Given the description of an element on the screen output the (x, y) to click on. 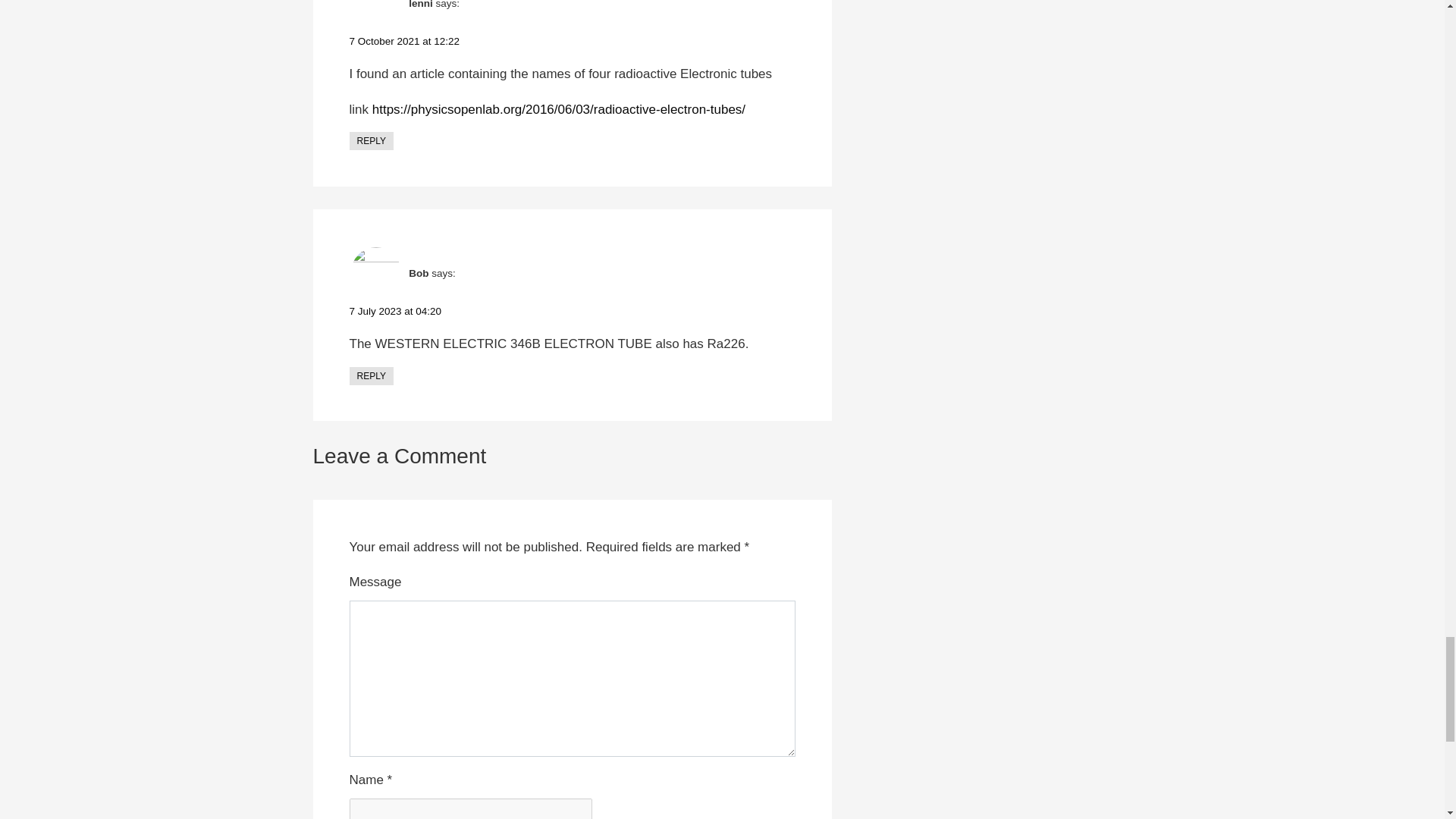
REPLY (371, 140)
REPLY (371, 375)
7 July 2023 at 04:20 (395, 310)
7 October 2021 at 12:22 (404, 41)
